Given the description of an element on the screen output the (x, y) to click on. 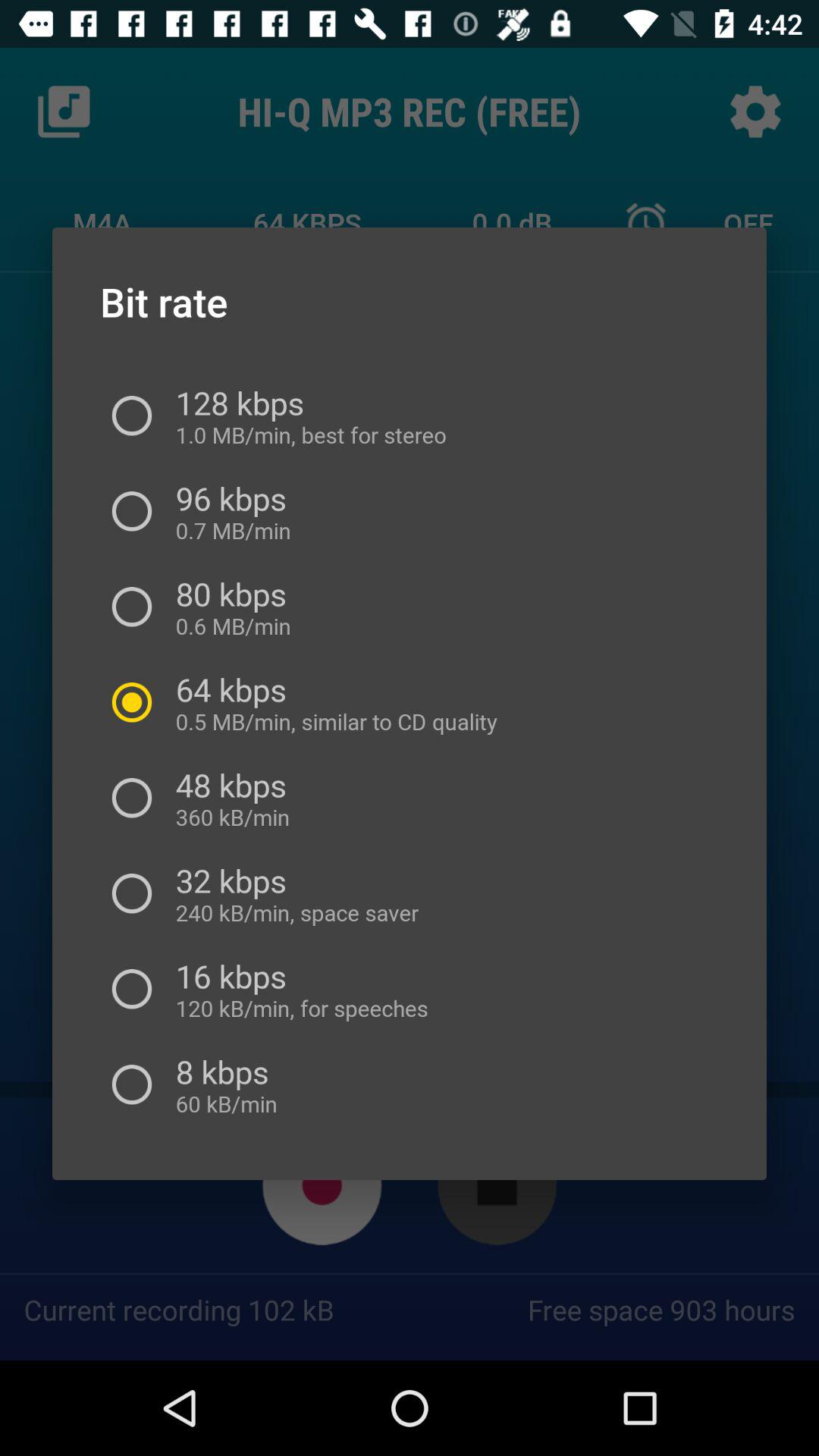
choose the 8 kbps 60 icon (221, 1084)
